Given the description of an element on the screen output the (x, y) to click on. 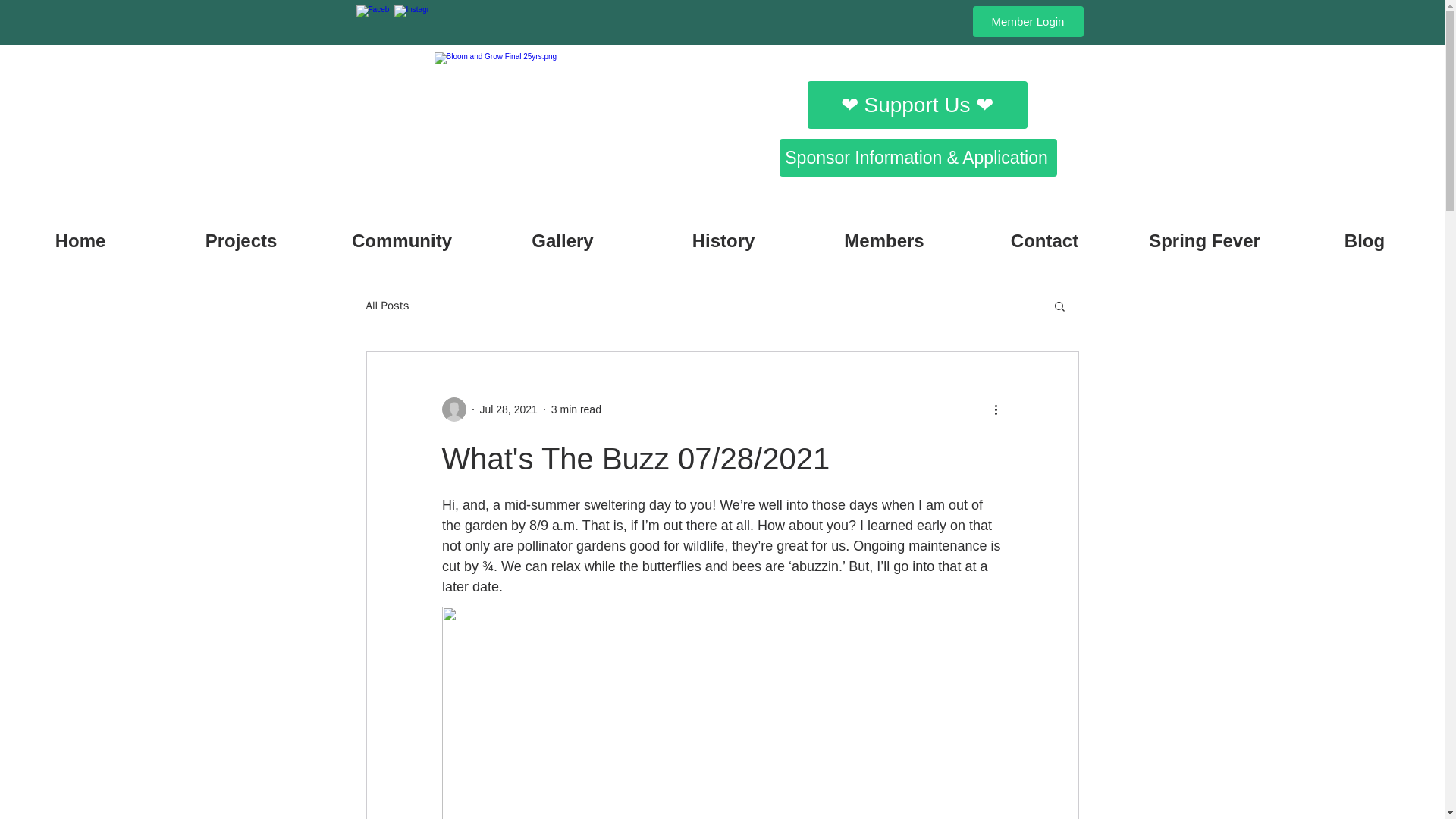
Spring Fever (1204, 234)
All Posts (387, 305)
Members (883, 234)
History (723, 234)
Contact (1043, 234)
Jul 28, 2021 (508, 409)
3 min read (576, 409)
Projects (240, 234)
Home (80, 234)
Community (401, 234)
